Given the description of an element on the screen output the (x, y) to click on. 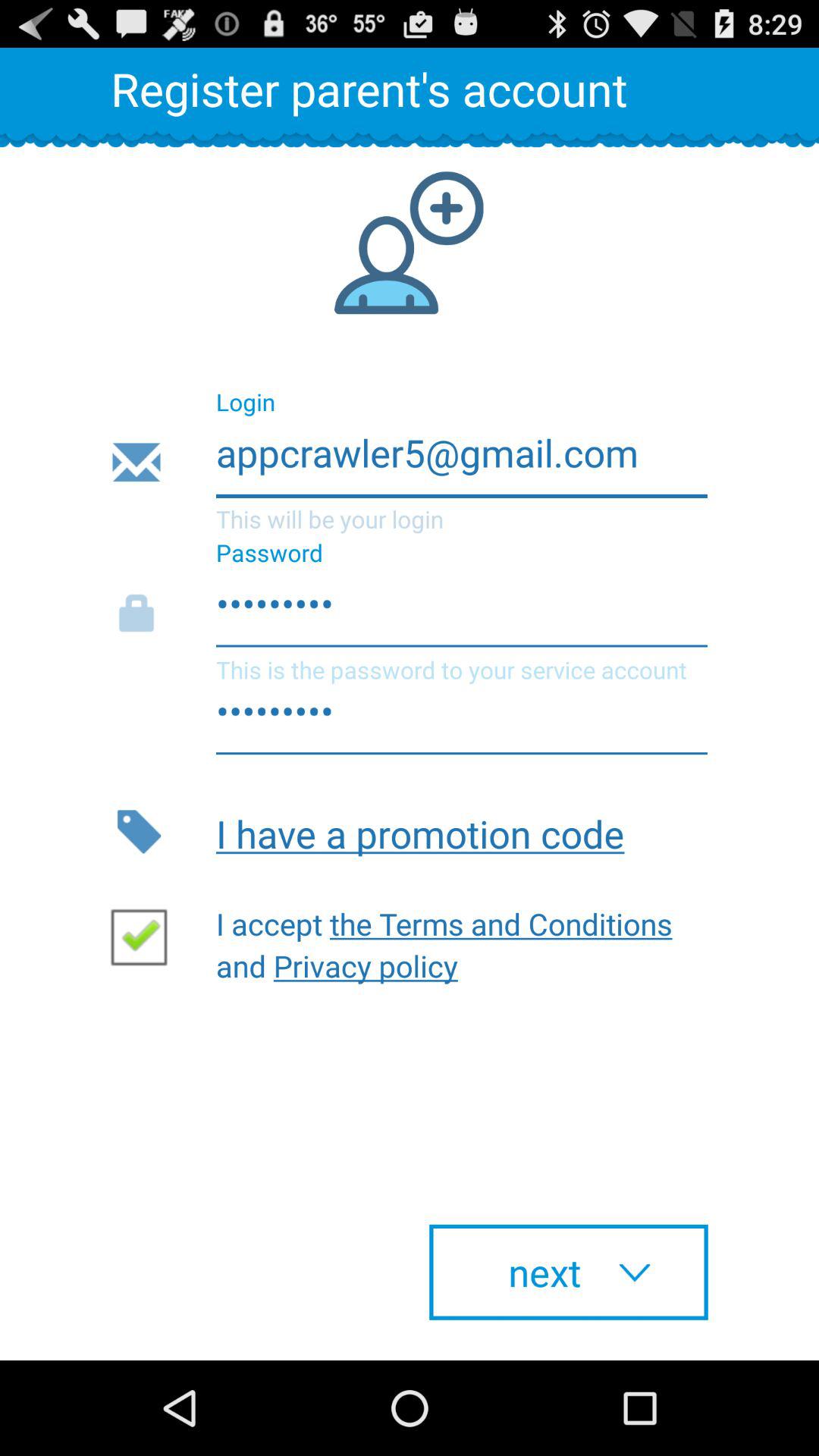
tap item below the crowd3116 (461, 831)
